Given the description of an element on the screen output the (x, y) to click on. 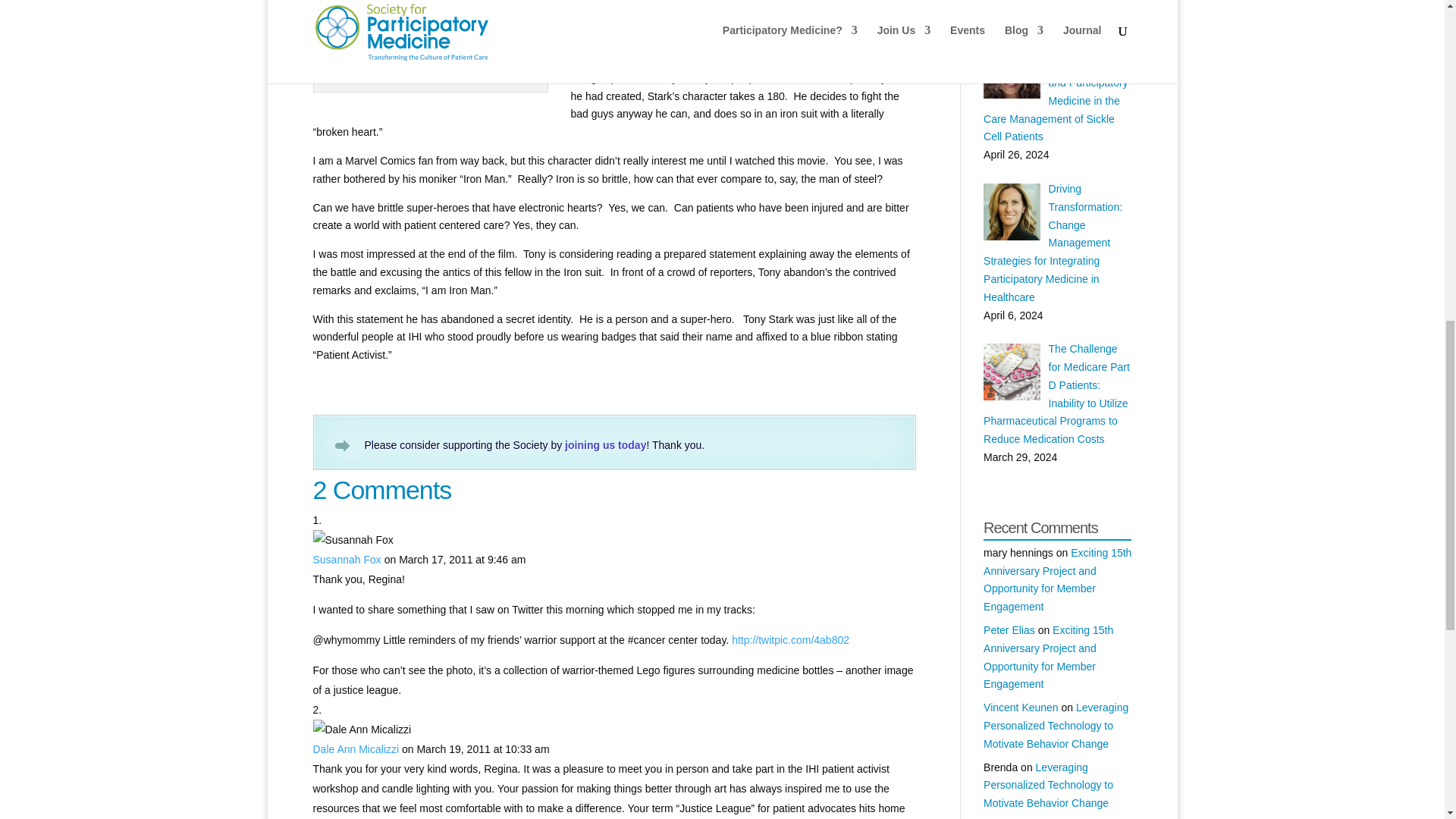
Dale Ann Micalizzi (355, 748)
joining us today (605, 444)
Susannah Fox (346, 559)
Iron Man (845, 41)
